Given the description of an element on the screen output the (x, y) to click on. 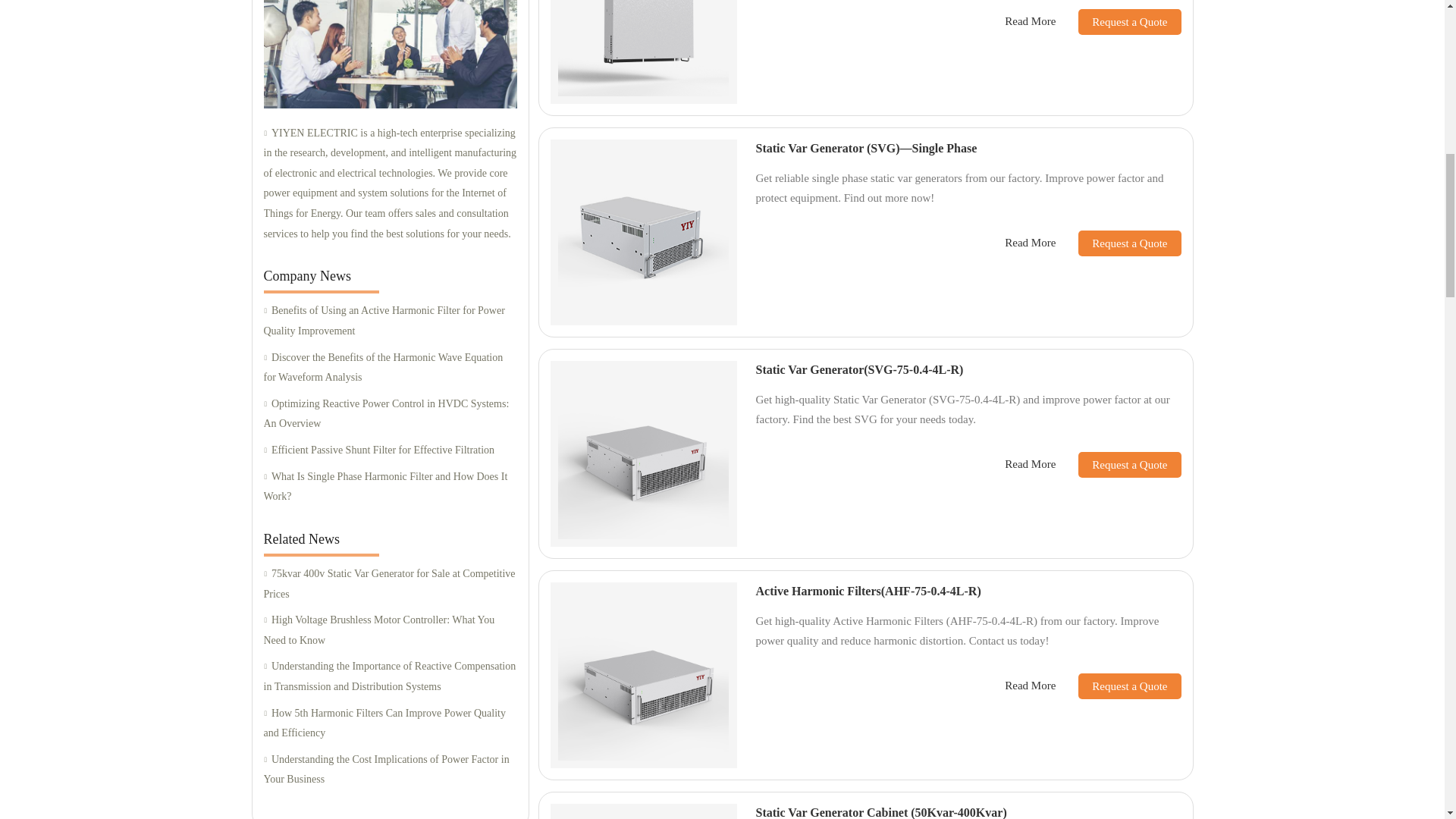
Request a Quote (1117, 464)
Efficient Passive Shunt Filter for Effective Filtration (389, 450)
Read More (1029, 21)
Read More (1029, 464)
What Is Single Phase Harmonic Filter and How Does It Work? (389, 486)
